Given the description of an element on the screen output the (x, y) to click on. 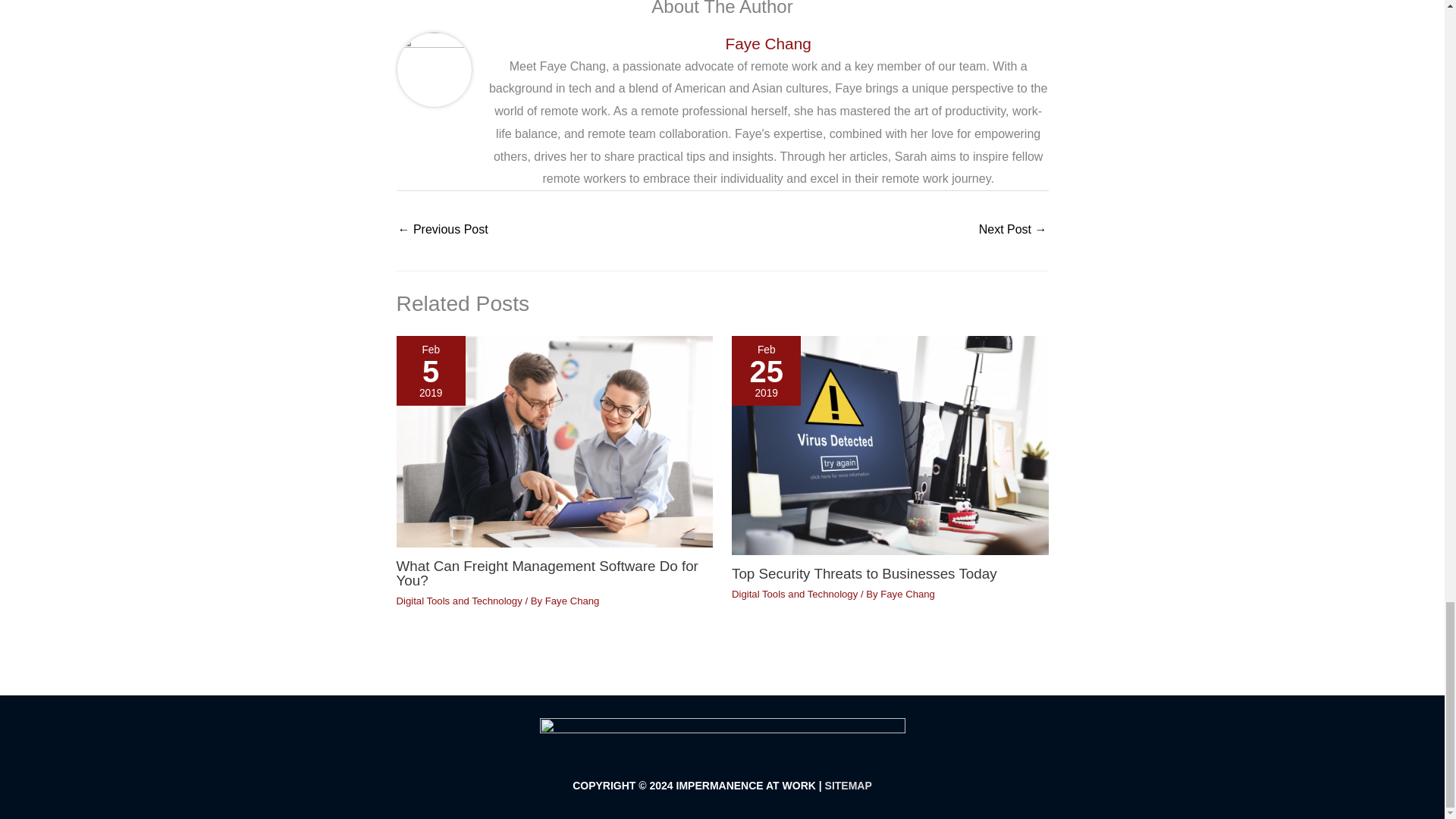
Faye Chang (767, 43)
View all posts by Faye Chang (571, 600)
SITEMAP (848, 785)
7 Digital Marketing Trends That You Cannot Ignore in 2021 (442, 230)
What Can Freight Management Software Do for You? (546, 572)
Recent Innovations in the Fabric Industry (1012, 230)
View all posts by Faye Chang (907, 593)
Faye Chang (571, 600)
Faye Chang (907, 593)
Digital Tools and Technology (794, 593)
